Given the description of an element on the screen output the (x, y) to click on. 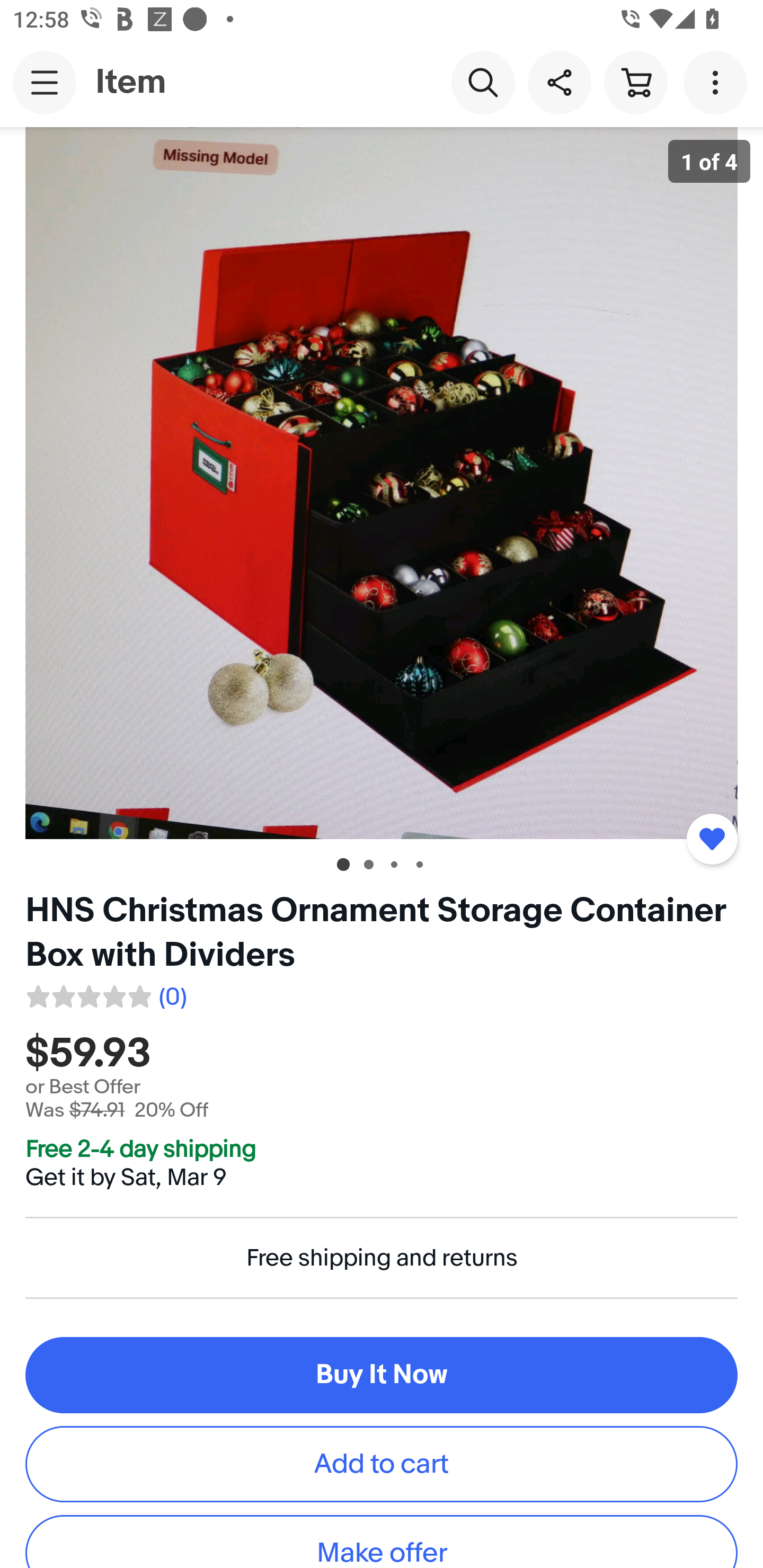
Main navigation, open (44, 82)
Search (482, 81)
Share this item (559, 81)
Cart button shopping cart (635, 81)
More options (718, 81)
Item image 1 of 4 (381, 482)
Added to watchlist (711, 838)
0 reviews. Average rating 0.0 out of five 0.0 (0) (105, 993)
Buy It Now (381, 1374)
Add to cart (381, 1463)
Make offer (381, 1541)
